Given the description of an element on the screen output the (x, y) to click on. 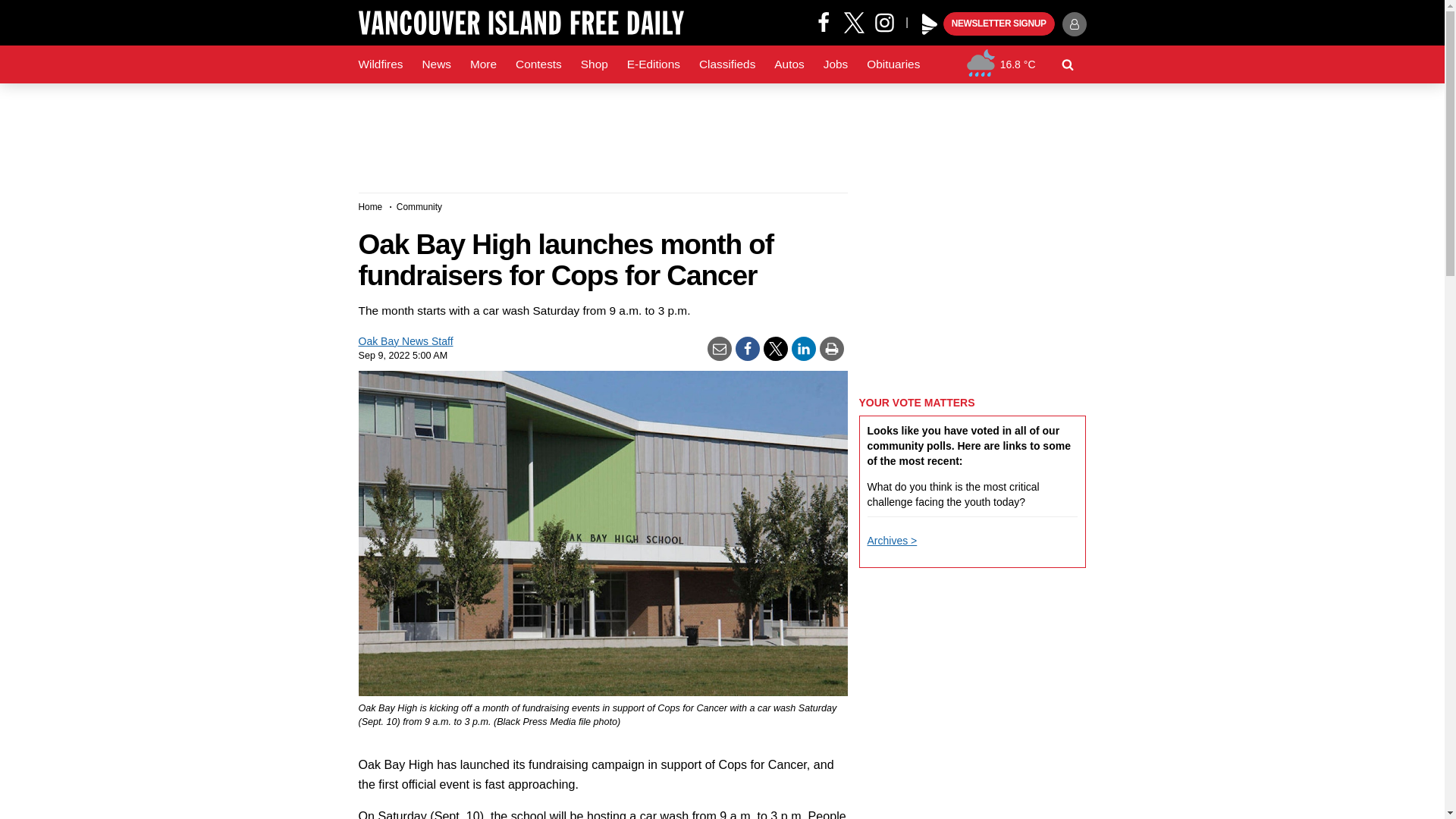
Facebook (823, 21)
Instagram (889, 21)
X (853, 21)
NEWSLETTER SIGNUP (998, 24)
Wildfires (380, 64)
News (435, 64)
Black Press Media (929, 24)
Play (929, 24)
